Given the description of an element on the screen output the (x, y) to click on. 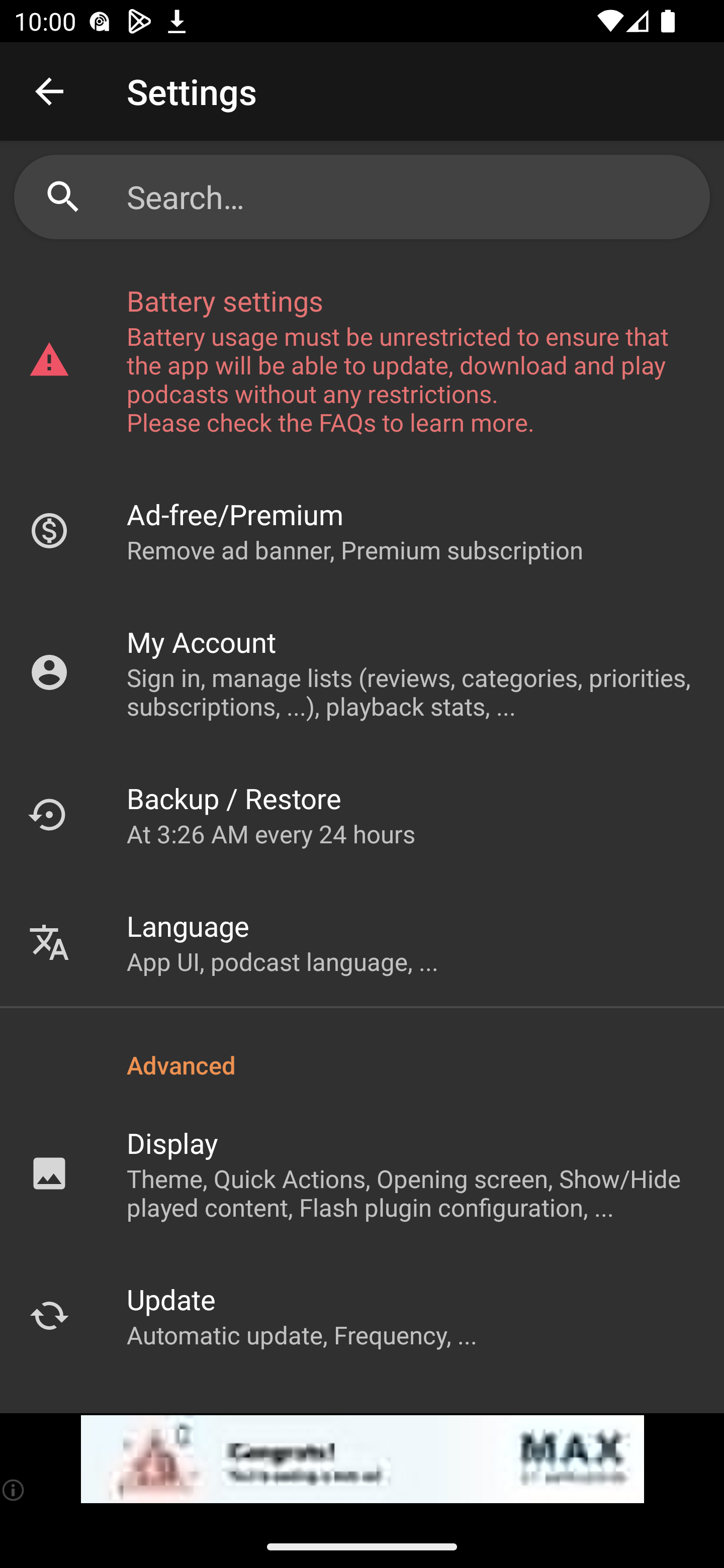
Navigate up (49, 91)
Search… (361, 197)
Search… (410, 196)
Backup / Restore At 3:26 AM every 24 hours (362, 814)
Language App UI, podcast language, ... (362, 942)
Update Automatic update, Frequency, ... (362, 1315)
app-monetization (362, 1459)
(i) (14, 1489)
